Given the description of an element on the screen output the (x, y) to click on. 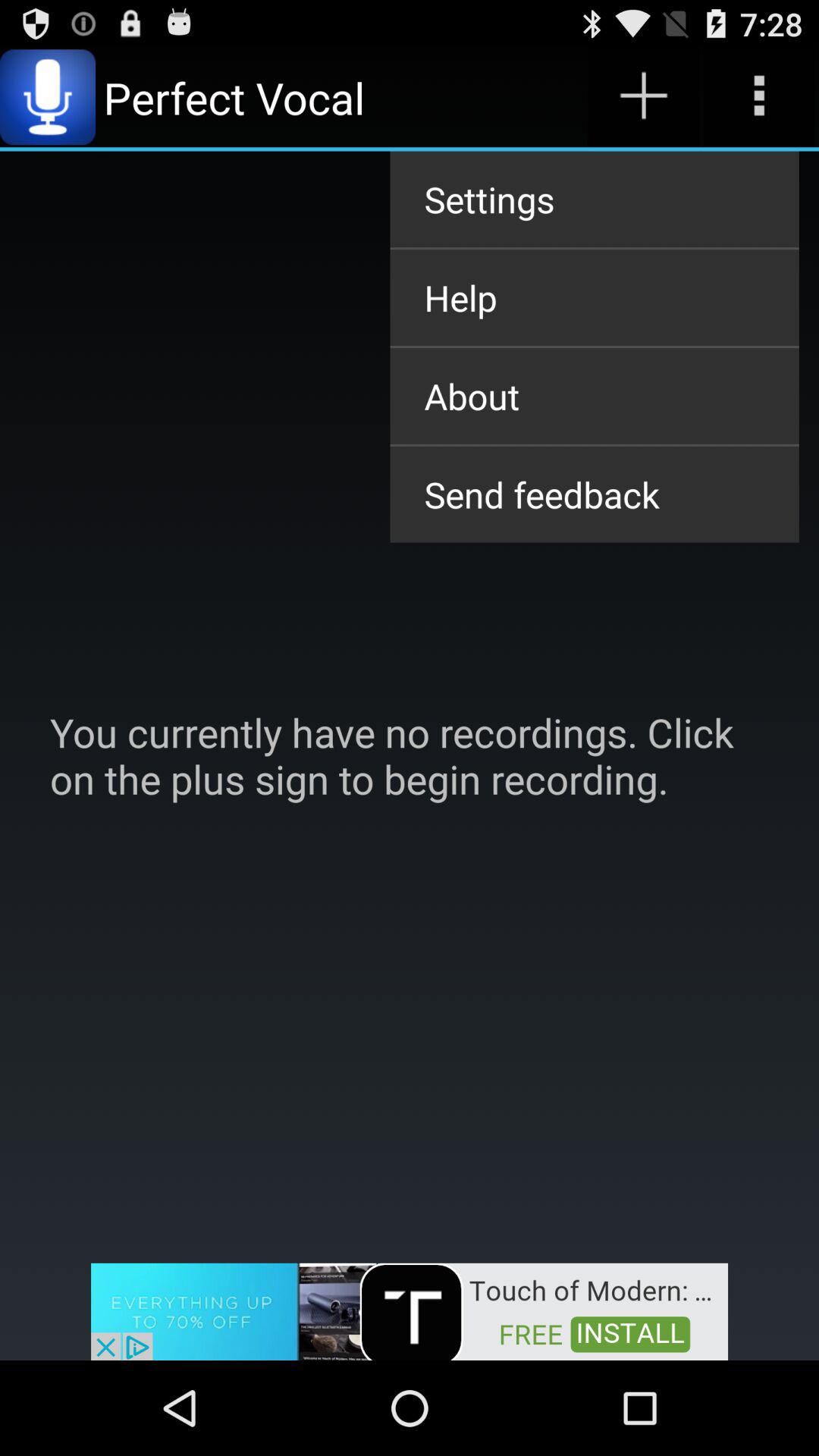
type the message (759, 97)
